Given the description of an element on the screen output the (x, y) to click on. 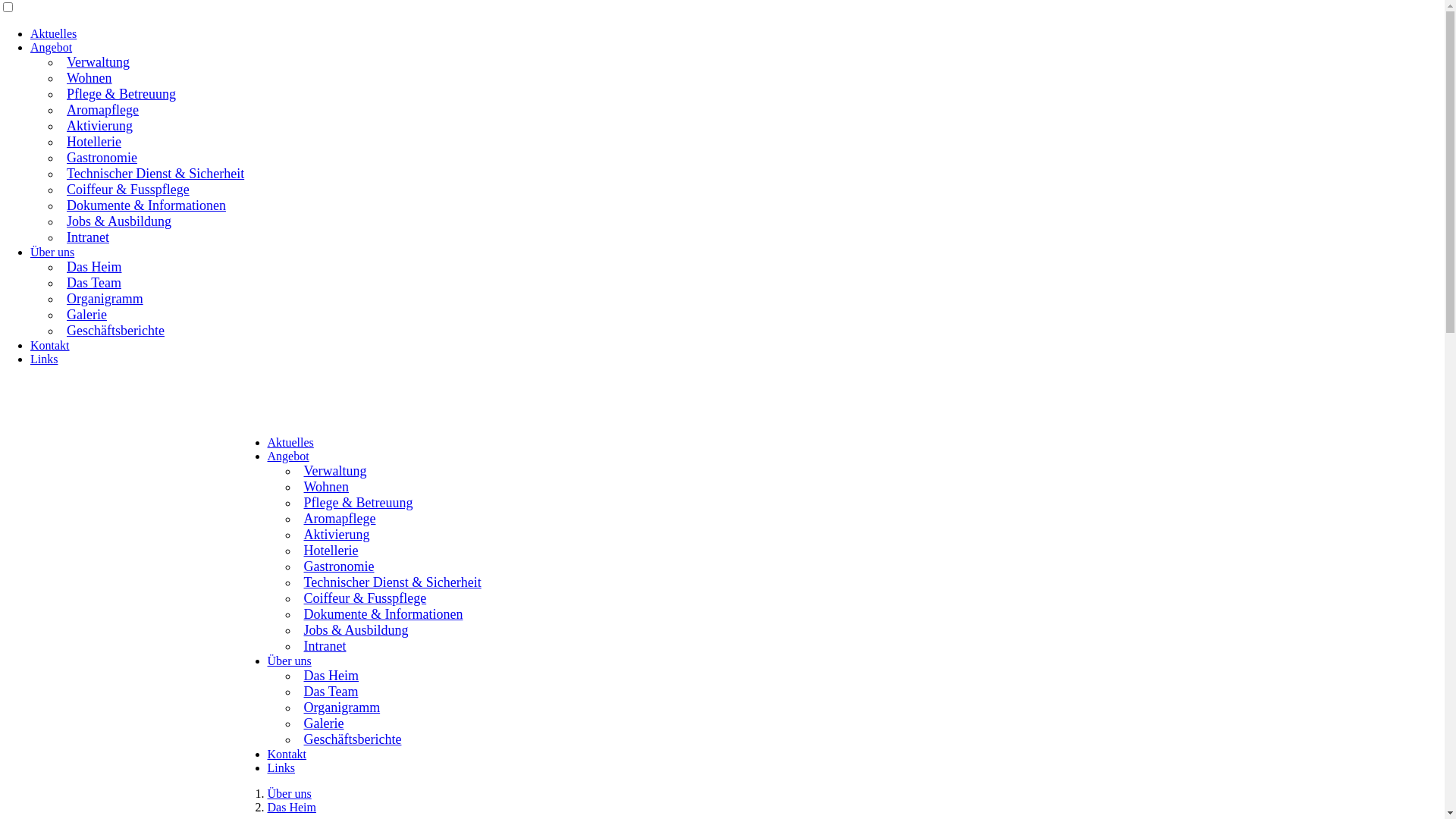
Intranet Element type: text (322, 644)
Aktuelles Element type: text (289, 442)
Das Heim Element type: text (290, 806)
Wohnen Element type: text (324, 485)
Intranet Element type: text (86, 235)
Aromapflege Element type: text (100, 108)
Hotellerie Element type: text (328, 548)
Verwaltung Element type: text (333, 469)
Angebot Element type: text (51, 46)
Hotellerie Element type: text (92, 140)
Links Element type: text (43, 358)
Aromapflege Element type: text (337, 517)
Jobs & Ausbildung Element type: text (117, 219)
Pflege & Betreuung Element type: text (356, 501)
Technischer Dienst & Sicherheit Element type: text (153, 172)
Das Team Element type: text (92, 281)
Aktivierung Element type: text (334, 532)
Galerie Element type: text (84, 313)
Dokumente & Informationen Element type: text (144, 203)
Gastronomie Element type: text (100, 156)
Aktuelles Element type: text (53, 33)
Kontakt Element type: text (49, 344)
Das Heim Element type: text (92, 265)
Verwaltung Element type: text (96, 60)
Coiffeur & Fusspflege Element type: text (363, 596)
Aktivierung Element type: text (97, 124)
Galerie Element type: text (321, 721)
Pflege & Betreuung Element type: text (119, 92)
Organigramm Element type: text (103, 297)
Wohnen Element type: text (87, 76)
Organigramm Element type: text (339, 705)
Links Element type: text (280, 767)
Angebot Element type: text (287, 455)
Technischer Dienst & Sicherheit Element type: text (390, 580)
Das Heim Element type: text (328, 674)
Gastronomie Element type: text (336, 564)
Dokumente & Informationen Element type: text (381, 612)
Kontakt Element type: text (286, 753)
Coiffeur & Fusspflege Element type: text (126, 187)
Das Team Element type: text (328, 689)
Jobs & Ausbildung Element type: text (354, 628)
